Given the description of an element on the screen output the (x, y) to click on. 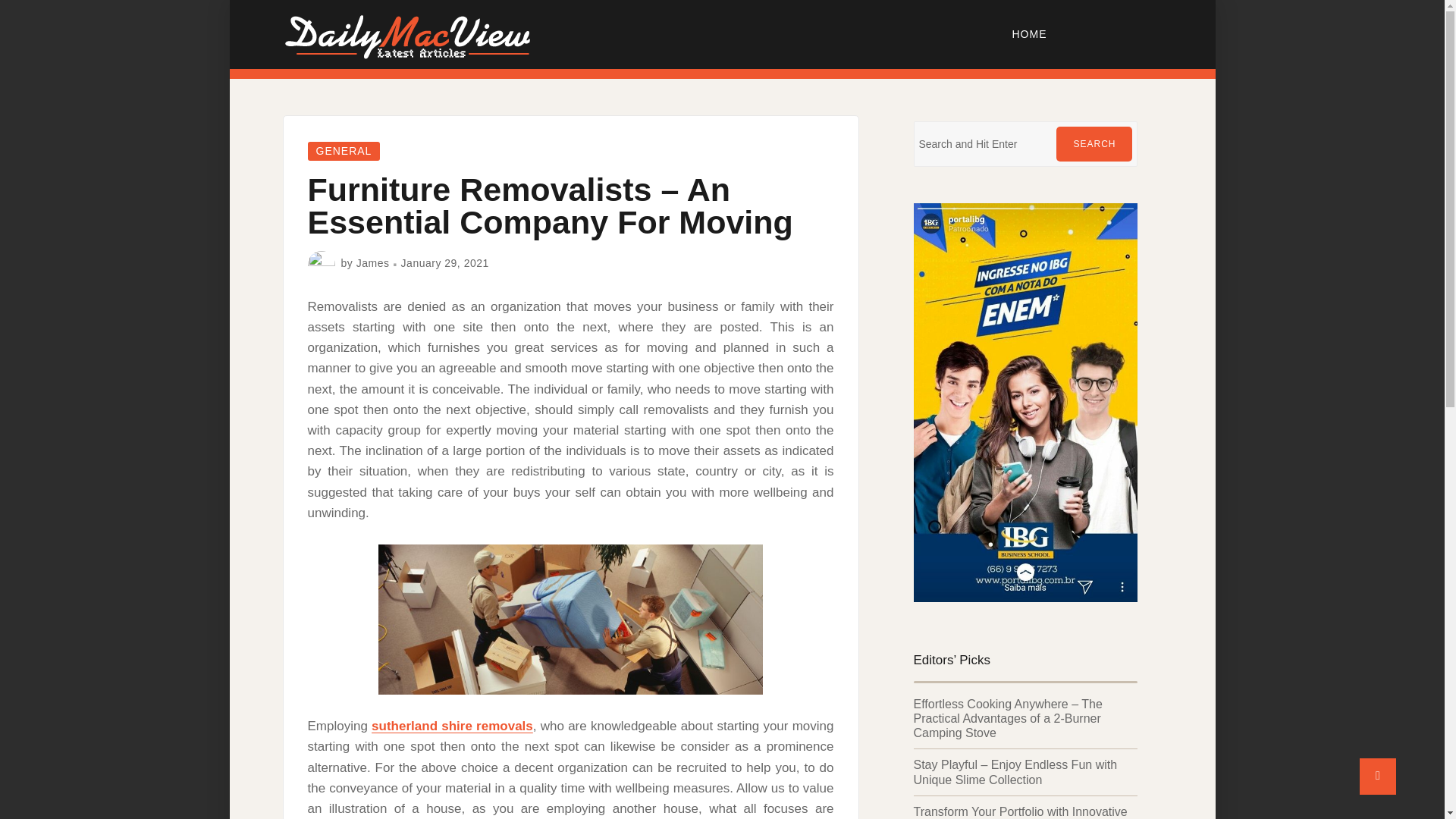
GENERAL (343, 150)
James (373, 263)
Scroll to top (1377, 776)
January 29, 2021 (445, 263)
HOME (1030, 33)
SEARCH (1094, 143)
sutherland shire removals (451, 726)
